Given the description of an element on the screen output the (x, y) to click on. 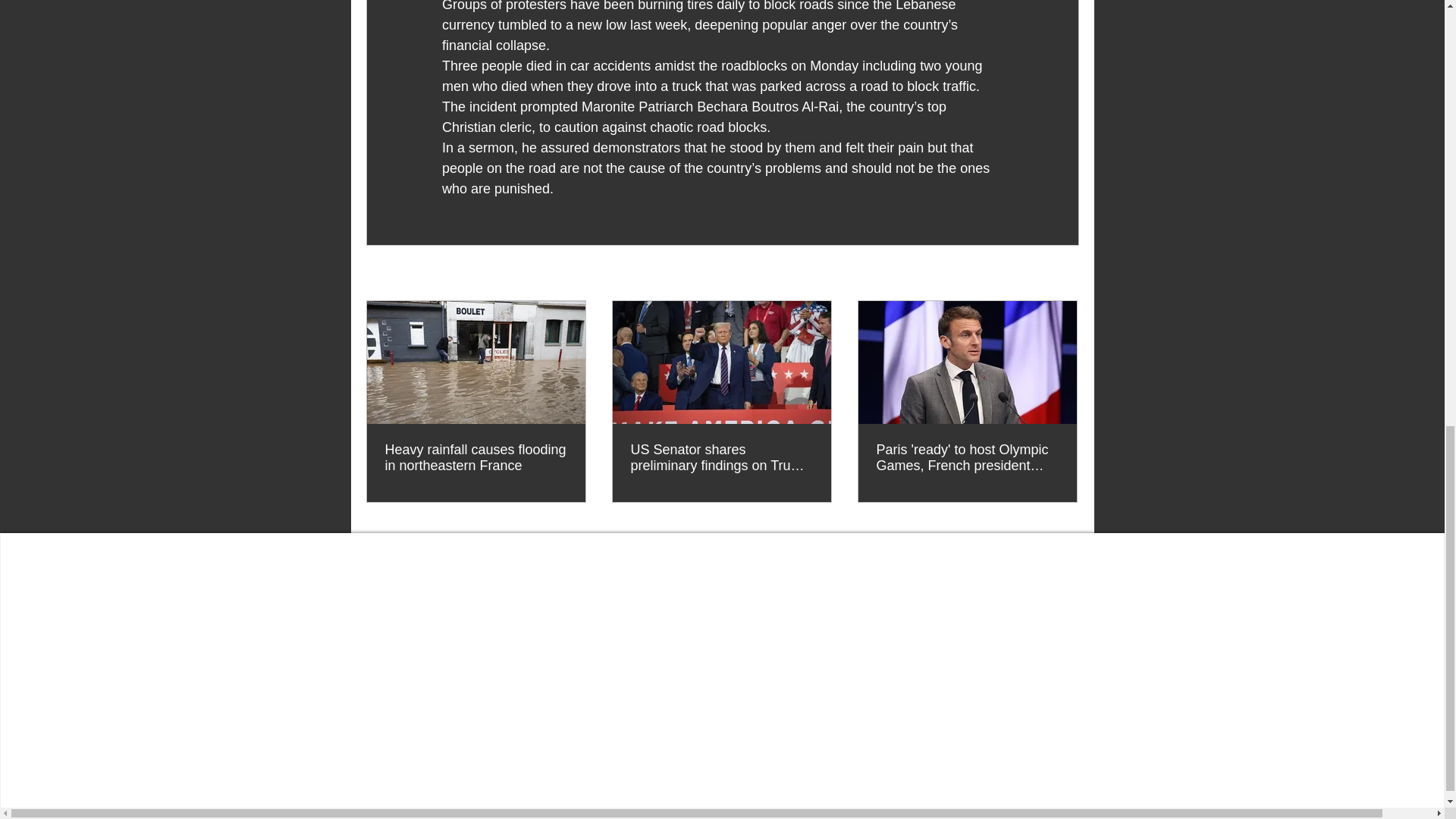
Heavy rainfall causes flooding in northeastern France (476, 458)
See All (1061, 273)
Paris 'ready' to host Olympic Games, French president says (967, 458)
